Given the description of an element on the screen output the (x, y) to click on. 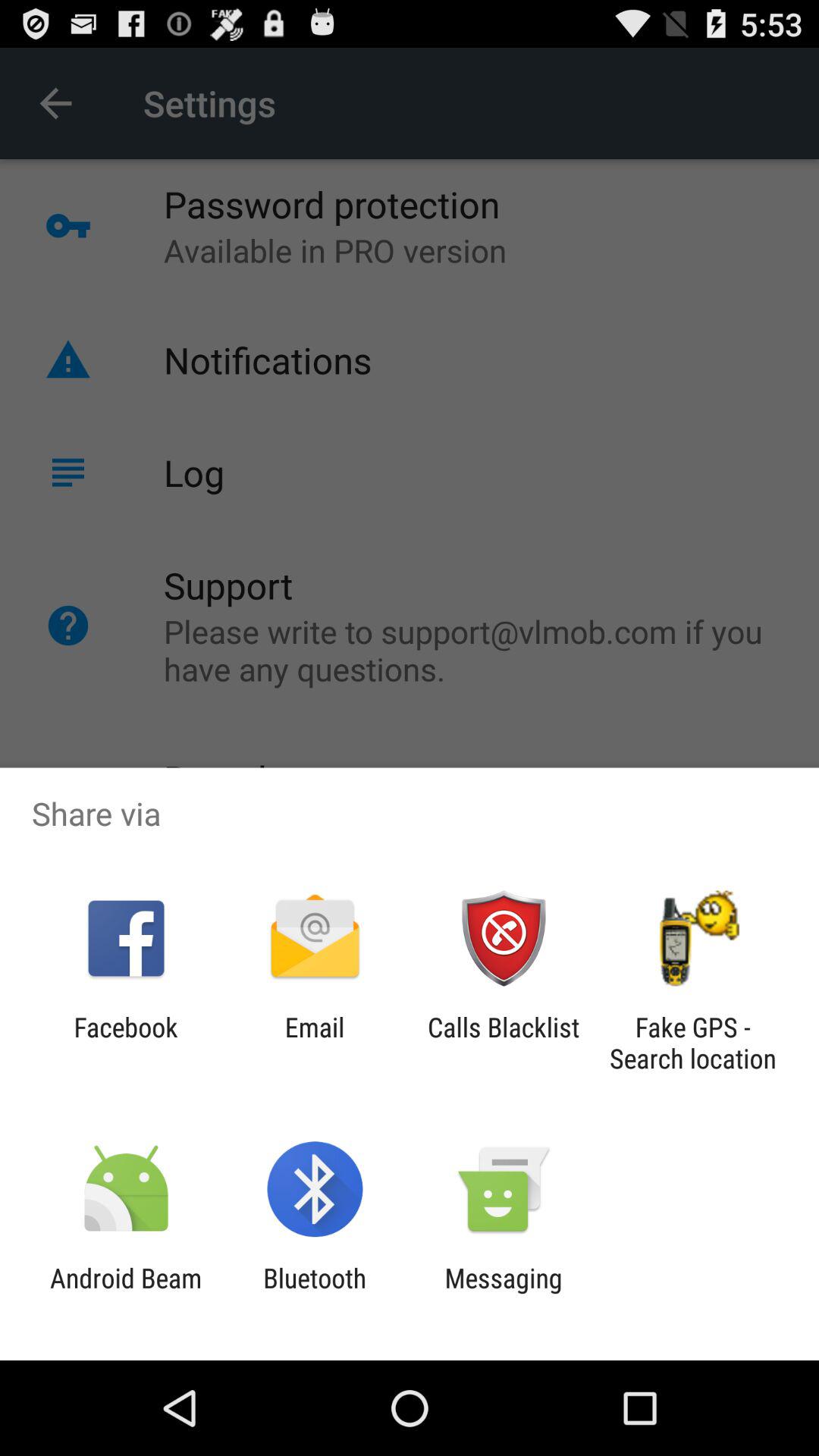
press the icon next to the email (503, 1042)
